Given the description of an element on the screen output the (x, y) to click on. 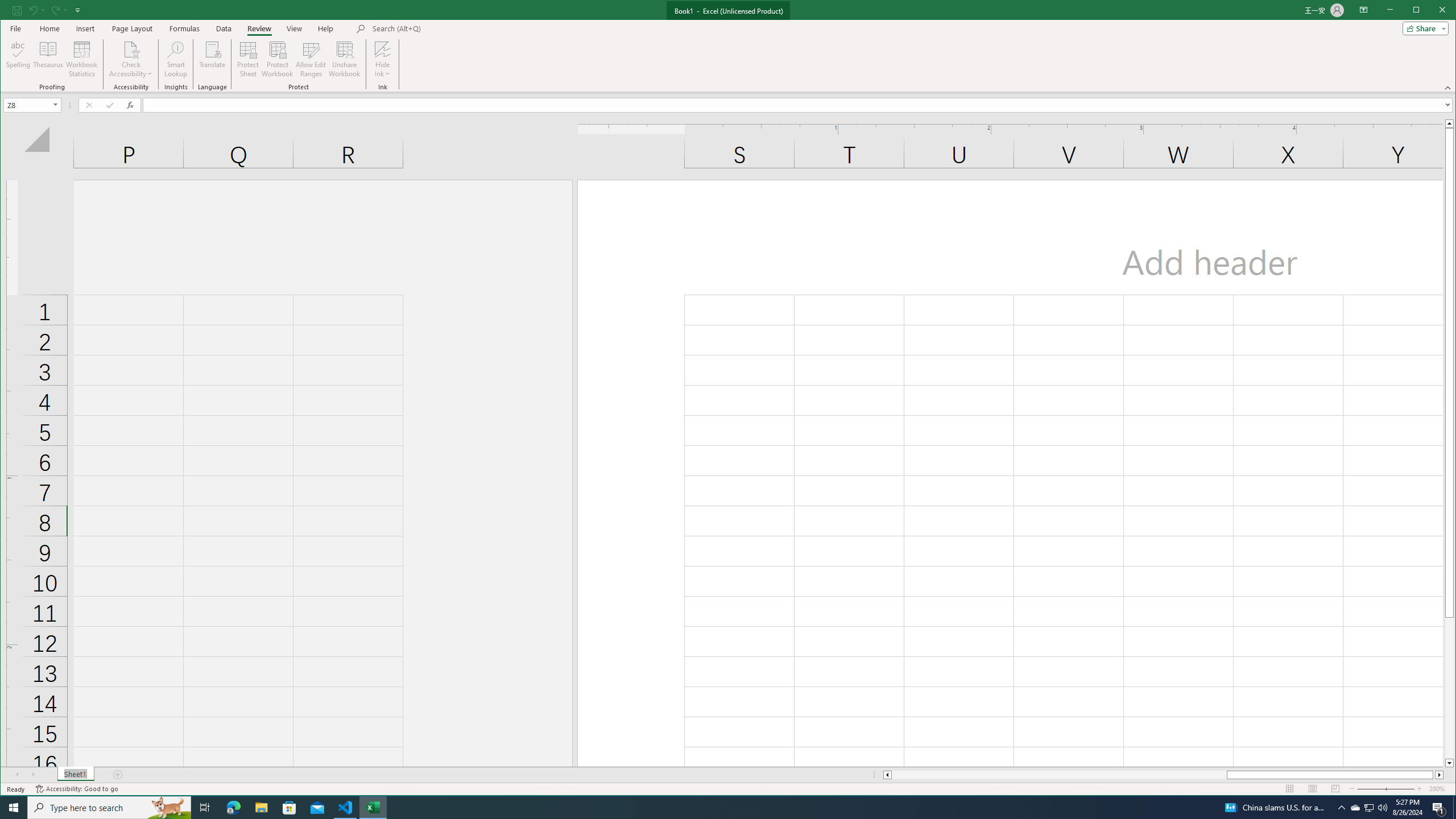
Thesaurus... (48, 59)
Protect Workbook... (277, 59)
Protect Sheet... (247, 59)
